Given the description of an element on the screen output the (x, y) to click on. 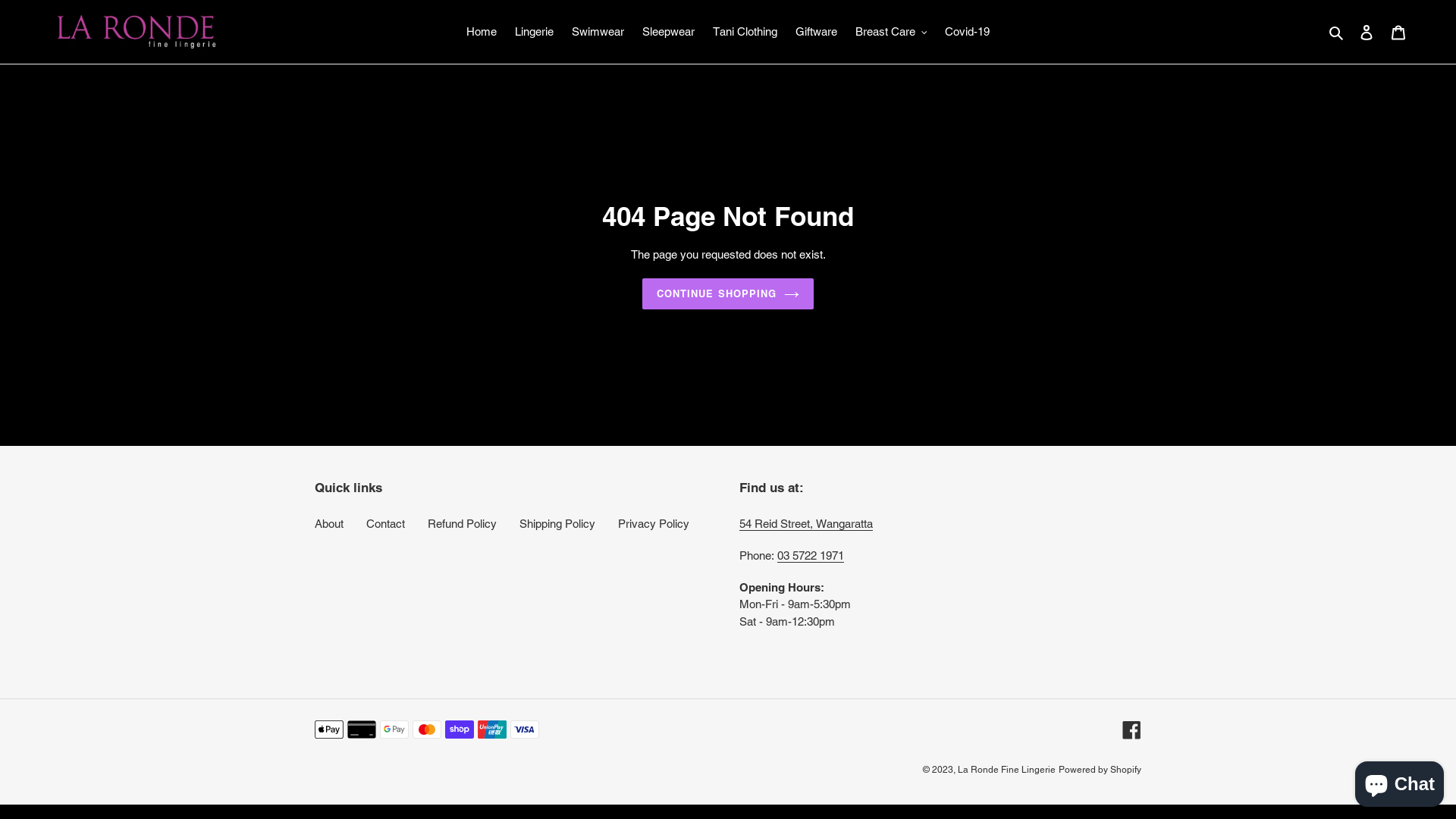
Refund Policy Element type: text (461, 523)
Log in Element type: text (1366, 31)
Home Element type: text (481, 32)
Tani Clothing Element type: text (744, 32)
La Ronde Fine Lingerie Element type: text (1006, 769)
Giftware Element type: text (815, 32)
Lingerie Element type: text (534, 32)
CONTINUE SHOPPING Element type: text (727, 294)
Contact Element type: text (385, 523)
03 5722 1971 Element type: text (810, 555)
Breast Care Element type: text (891, 32)
Shipping Policy Element type: text (557, 523)
Shopify online store chat Element type: hover (1399, 780)
Powered by Shopify Element type: text (1099, 769)
Privacy Policy Element type: text (653, 523)
About Element type: text (328, 523)
Cart Element type: text (1398, 31)
54 Reid Street, Wangaratta Element type: text (805, 523)
Search Element type: text (1337, 31)
Facebook Element type: text (1131, 729)
Sleepwear Element type: text (668, 32)
Covid-19 Element type: text (967, 32)
Swimwear Element type: text (597, 32)
